Given the description of an element on the screen output the (x, y) to click on. 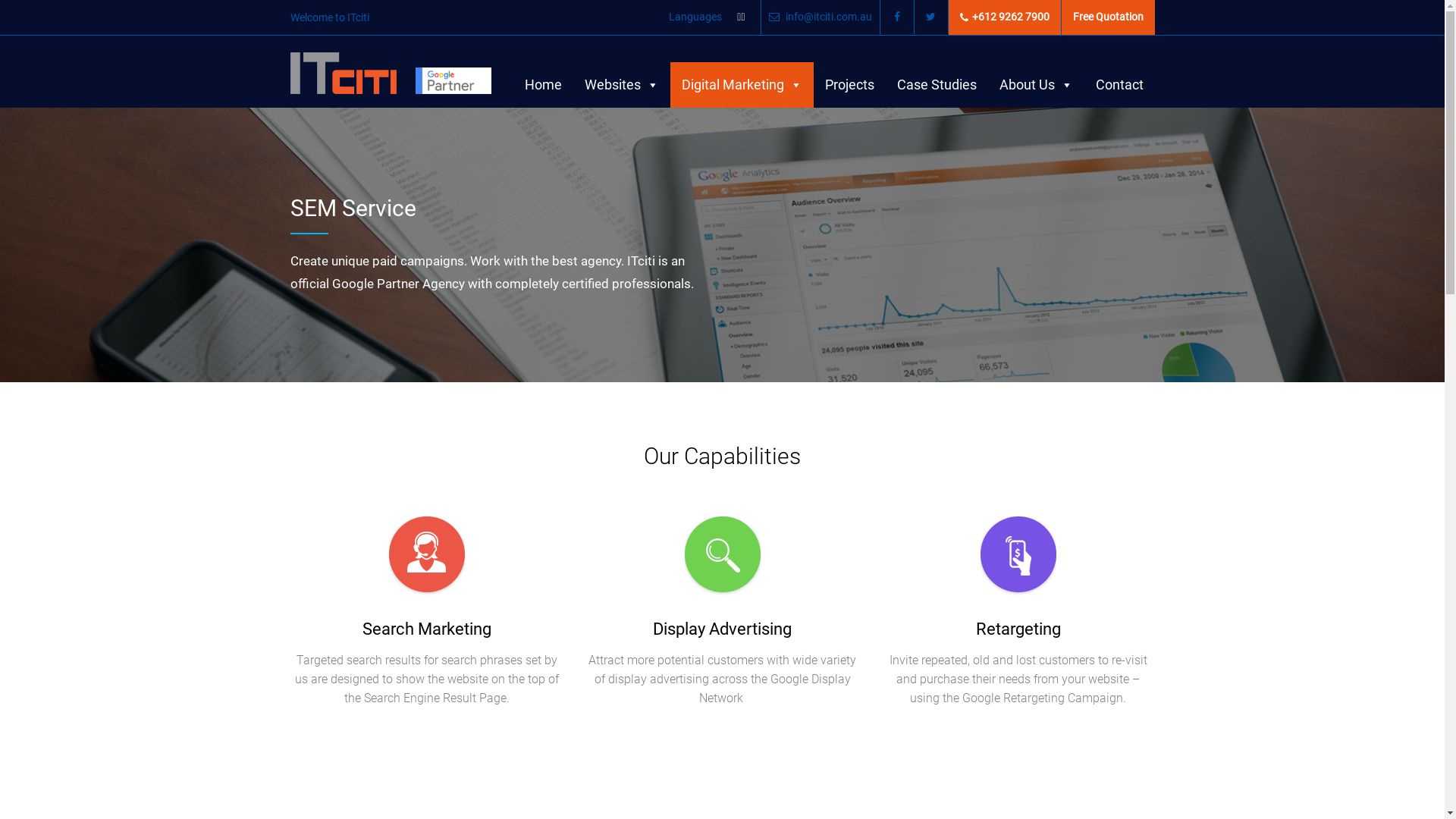
facebook Element type: hover (896, 17)
ITciti Element type: hover (342, 70)
Contact Element type: text (1119, 84)
Projects Element type: text (848, 84)
info@itciti.com.au Element type: text (819, 17)
Free Quotation Element type: text (1107, 17)
About Us Element type: text (1035, 84)
twitter Element type: hover (931, 17)
Websites Element type: text (621, 84)
+612 9262 7900 Element type: text (1003, 17)
Home Element type: text (542, 84)
Case Studies Element type: text (936, 84)
Digital Marketing Element type: text (741, 84)
